Given the description of an element on the screen output the (x, y) to click on. 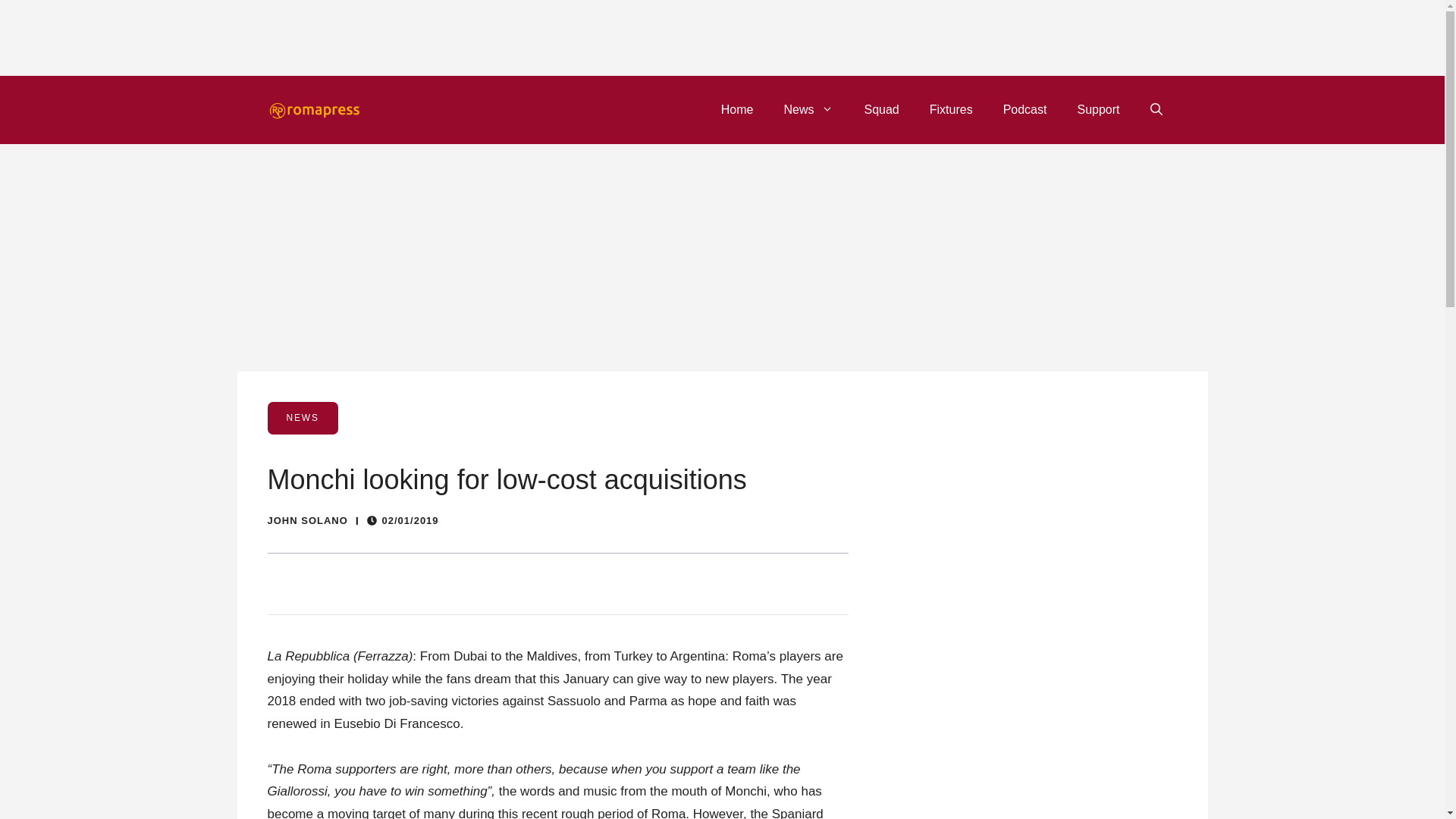
Home (737, 109)
News (808, 109)
Fixtures (951, 109)
Support (1097, 109)
Podcast (1025, 109)
Squad (881, 109)
